Given the description of an element on the screen output the (x, y) to click on. 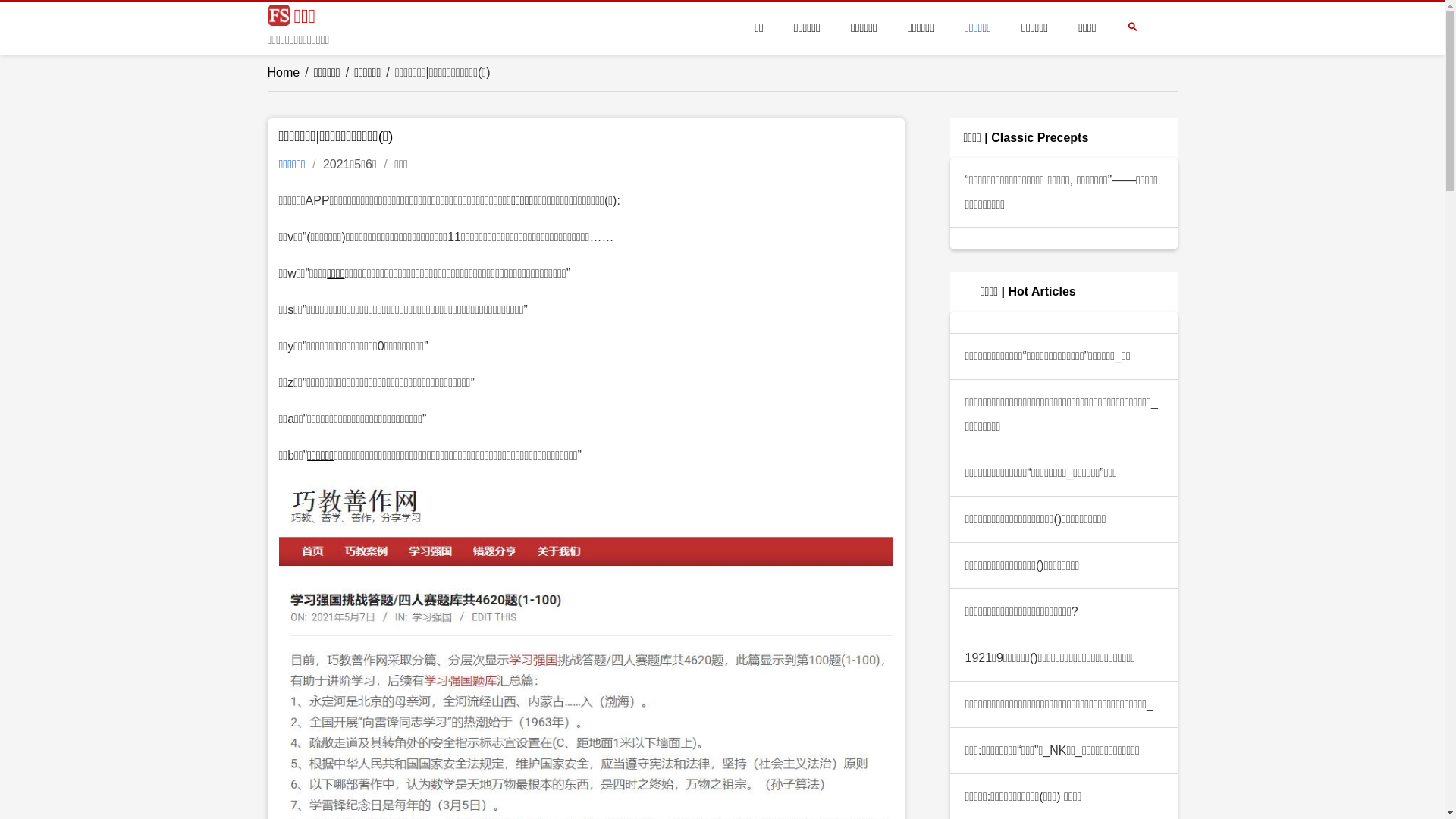
Skip to content Element type: text (40, 12)
Home Element type: text (282, 71)
Search Element type: text (471, 283)
